Given the description of an element on the screen output the (x, y) to click on. 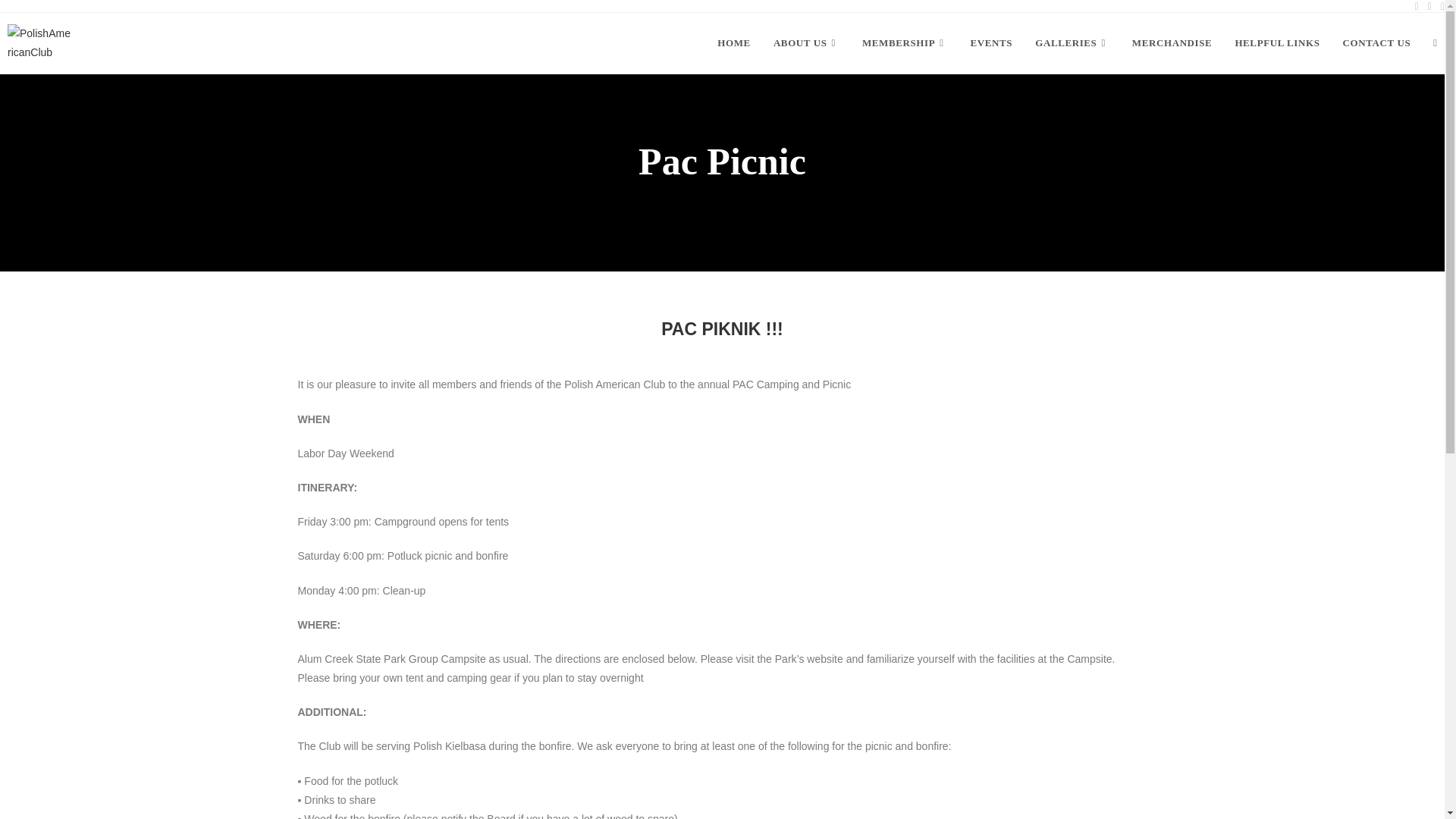
HELPFUL LINKS (1276, 43)
ABOUT US (805, 43)
CONTACT US (1377, 43)
MEMBERSHIP (904, 43)
GALLERIES (1072, 43)
MERCHANDISE (1172, 43)
HOME (733, 43)
EVENTS (992, 43)
